Given the description of an element on the screen output the (x, y) to click on. 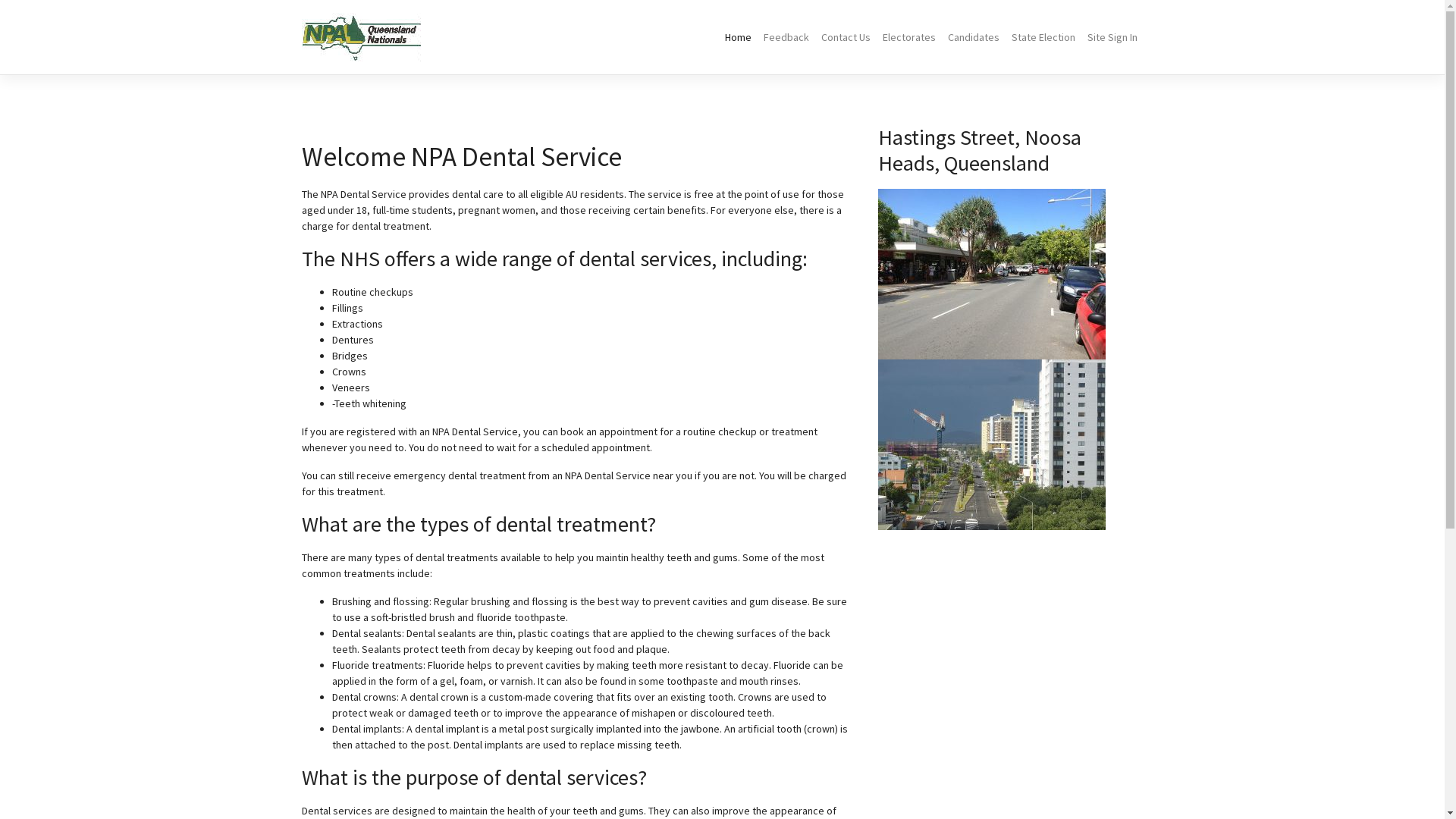
Home Element type: text (737, 37)
Electorates Element type: text (908, 37)
Contact Us Element type: text (844, 37)
Site Sign In Element type: text (1112, 37)
Feedback Element type: text (785, 37)
Candidates Element type: text (973, 37)
State Election Element type: text (1043, 37)
